Given the description of an element on the screen output the (x, y) to click on. 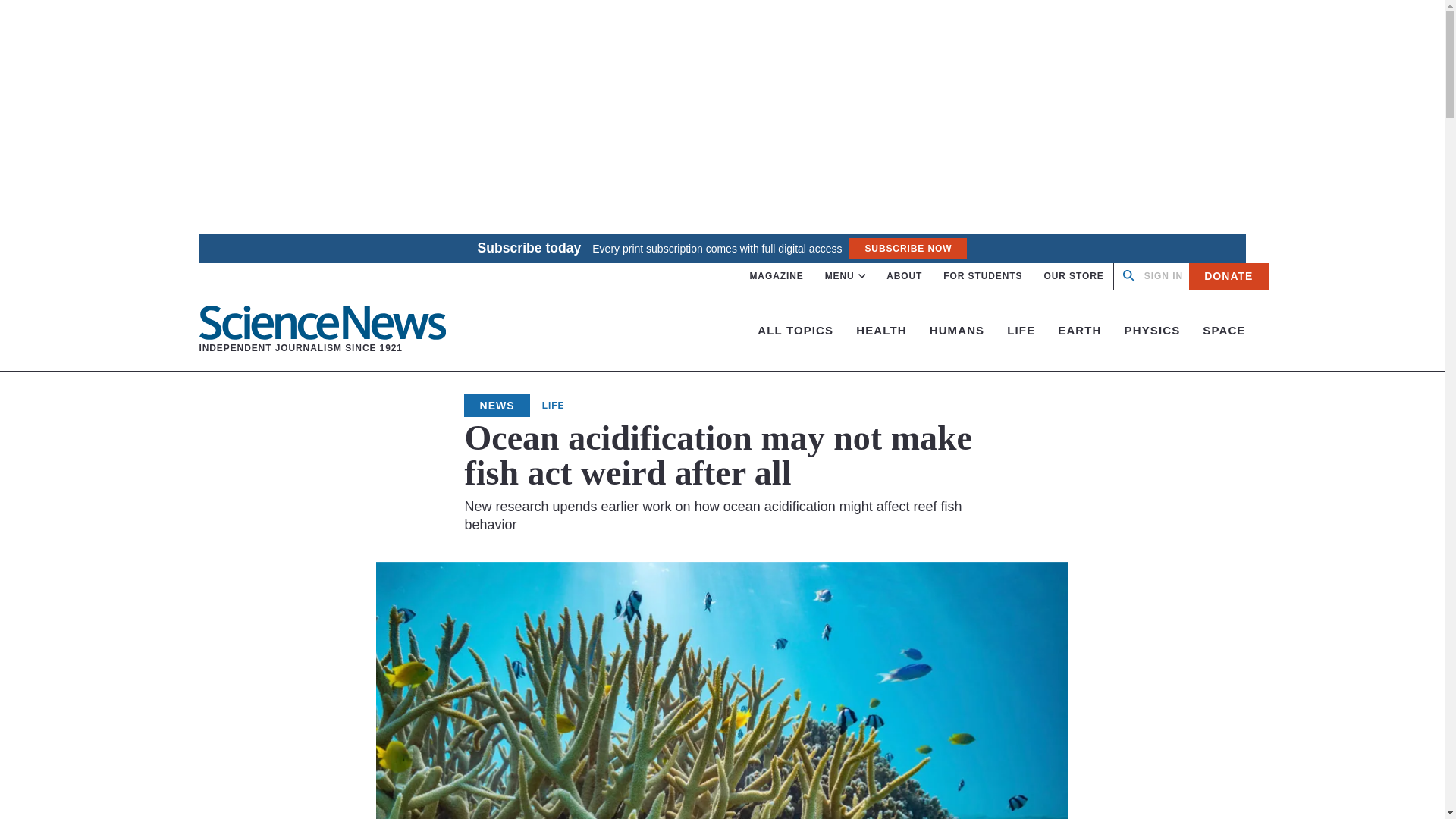
SIGN IN (1163, 275)
ABOUT (903, 275)
ALL TOPICS (794, 329)
DONATE (321, 330)
MENU (1228, 275)
SUBSCRIBE NOW (845, 275)
OUR STORE (907, 248)
Open search (1073, 275)
FOR STUDENTS (1128, 275)
